Given the description of an element on the screen output the (x, y) to click on. 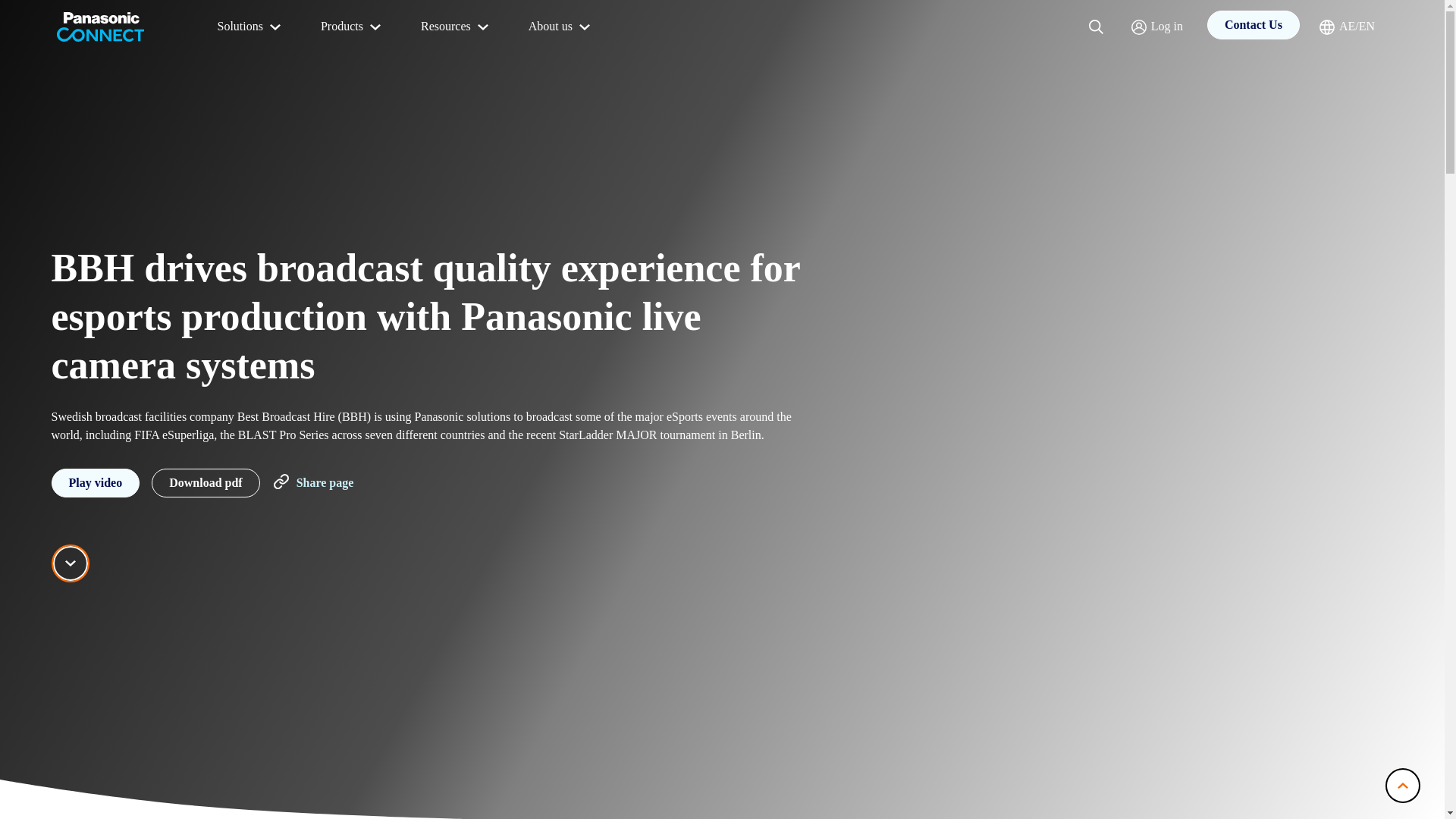
About us (560, 26)
Resources (455, 26)
Products (352, 26)
Solutions (250, 26)
